Given the description of an element on the screen output the (x, y) to click on. 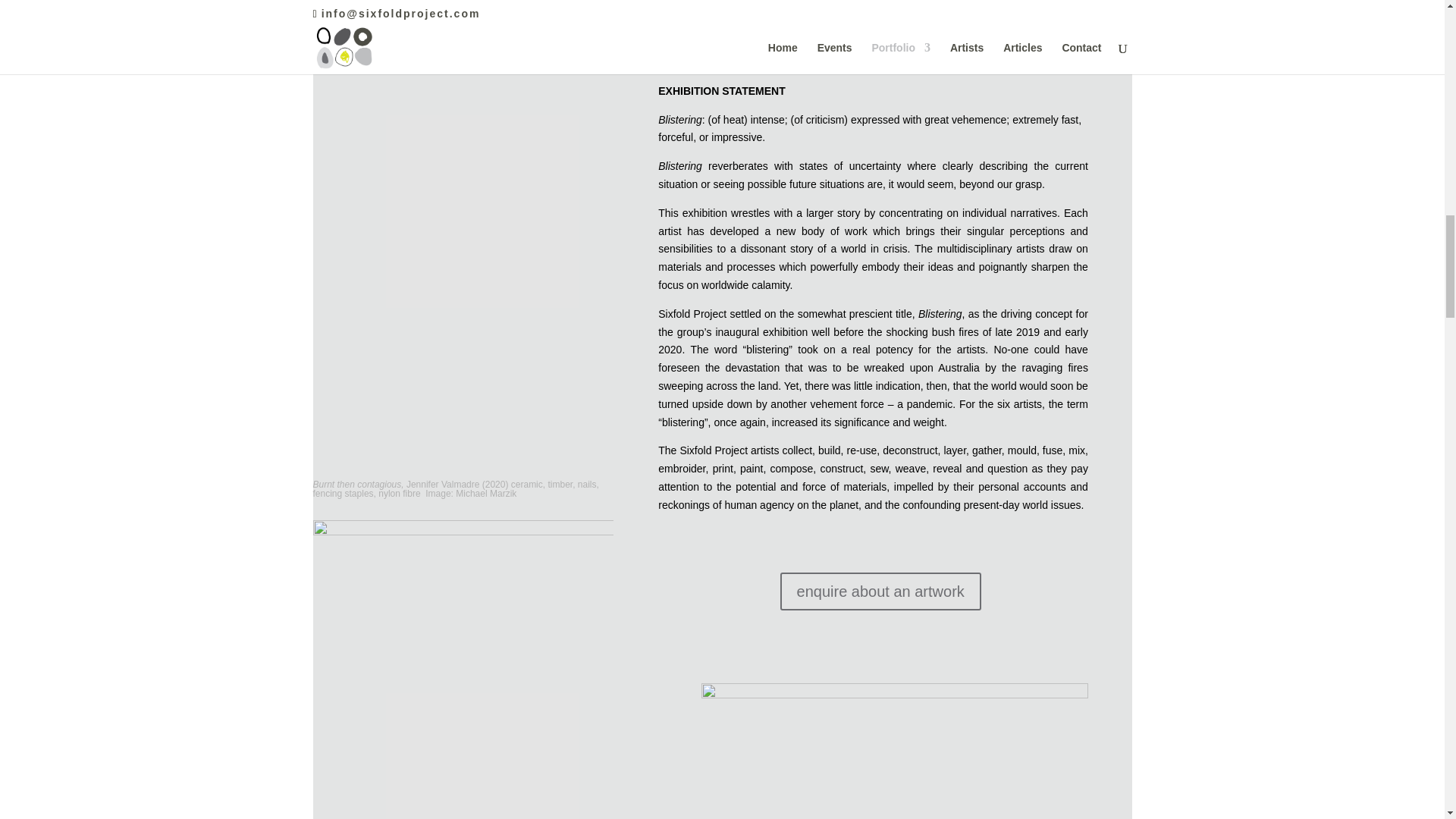
enquire about an artwork (880, 591)
